Given the description of an element on the screen output the (x, y) to click on. 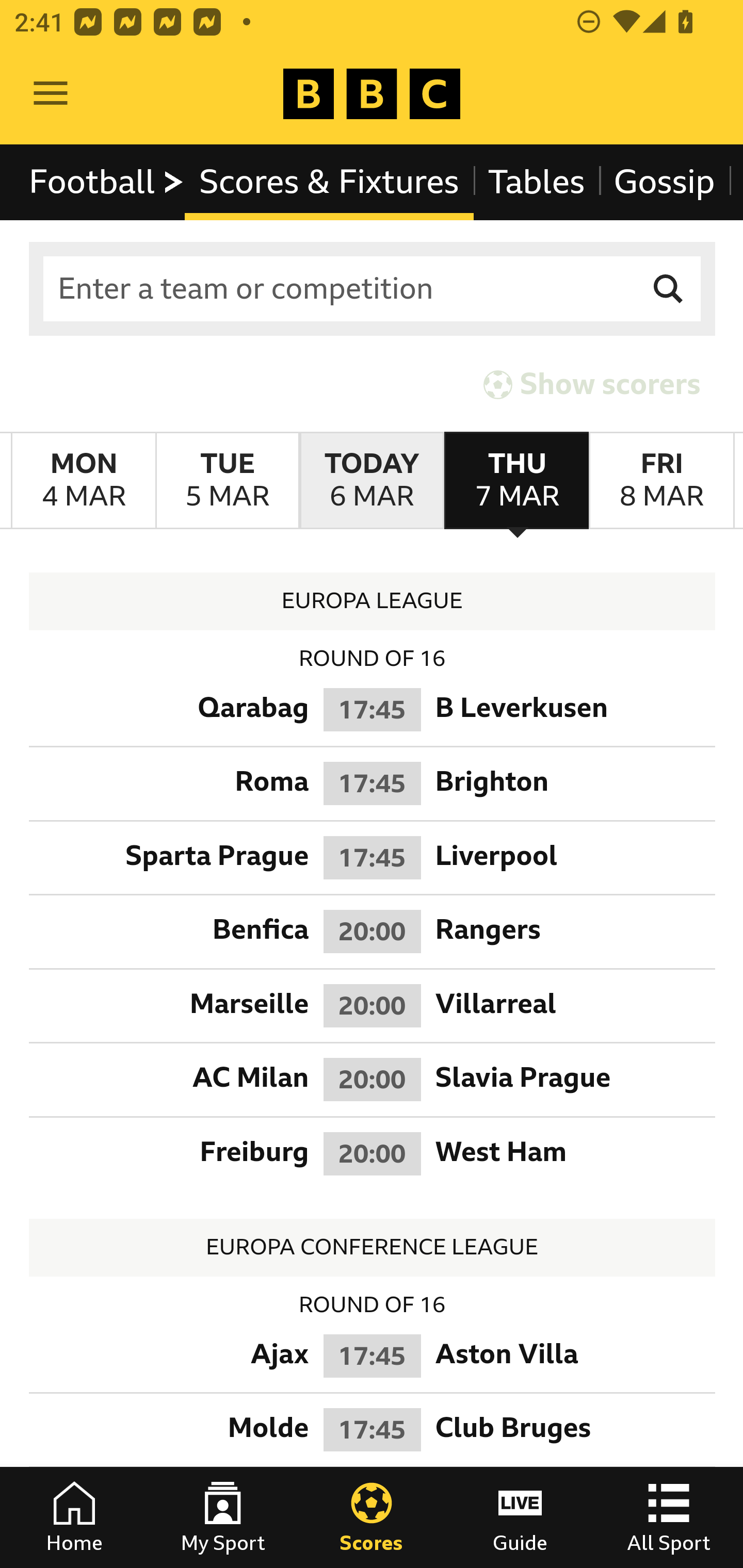
Open Menu (50, 93)
Football  (106, 181)
Scores & Fixtures (329, 181)
Tables (536, 181)
Gossip (664, 181)
Search (669, 289)
Show scorers (591, 383)
MondayMarch 4th Monday March 4th (83, 480)
TuesdayMarch 5th Tuesday March 5th (227, 480)
TodayMarch 6th Today March 6th (371, 480)
FridayMarch 8th Friday March 8th (661, 480)
Home (74, 1517)
My Sport (222, 1517)
Guide (519, 1517)
All Sport (668, 1517)
